Given the description of an element on the screen output the (x, y) to click on. 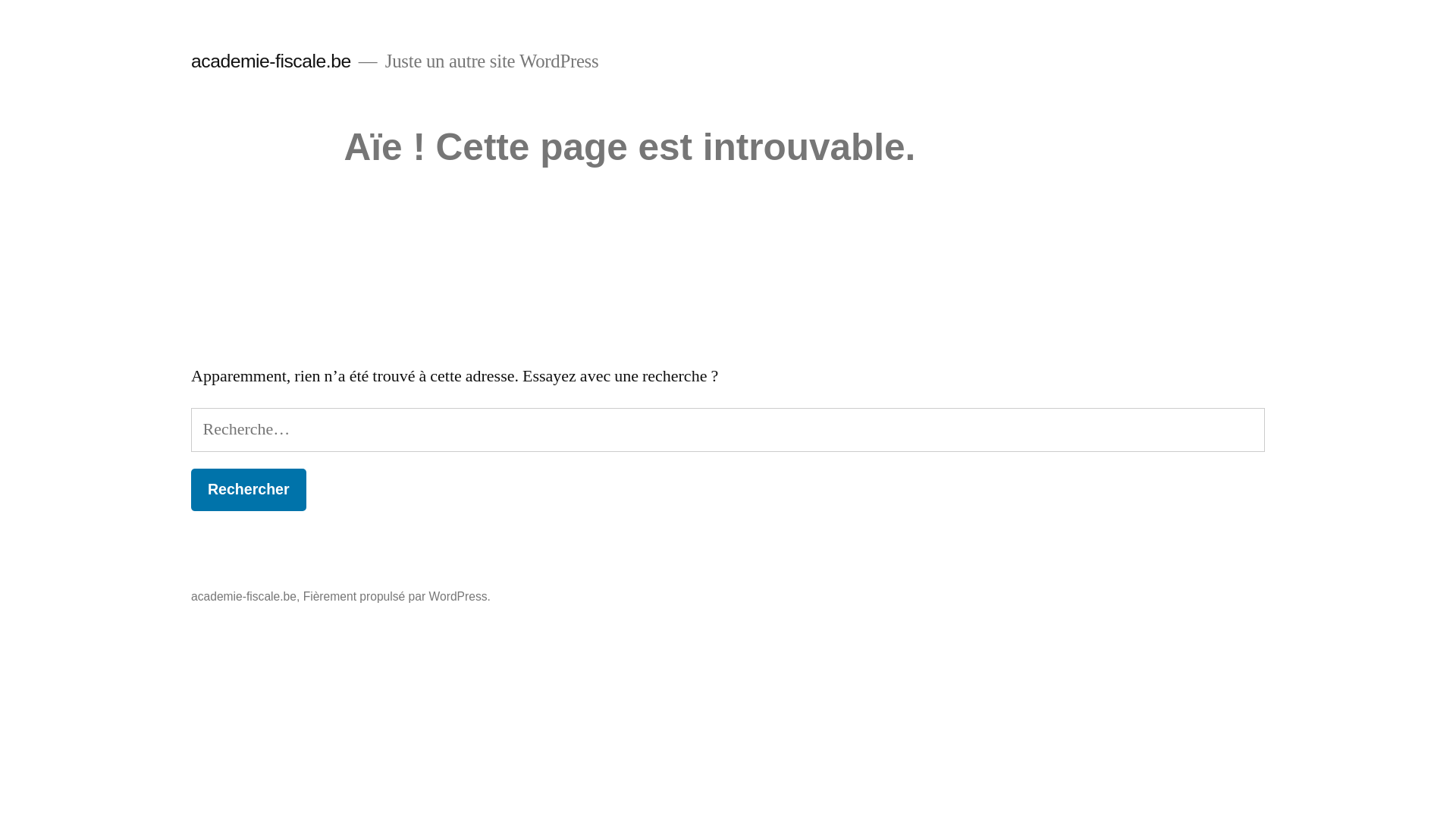
Rechercher Element type: text (248, 489)
academie-fiscale.be Element type: text (271, 60)
academie-fiscale.be Element type: text (243, 595)
